Given the description of an element on the screen output the (x, y) to click on. 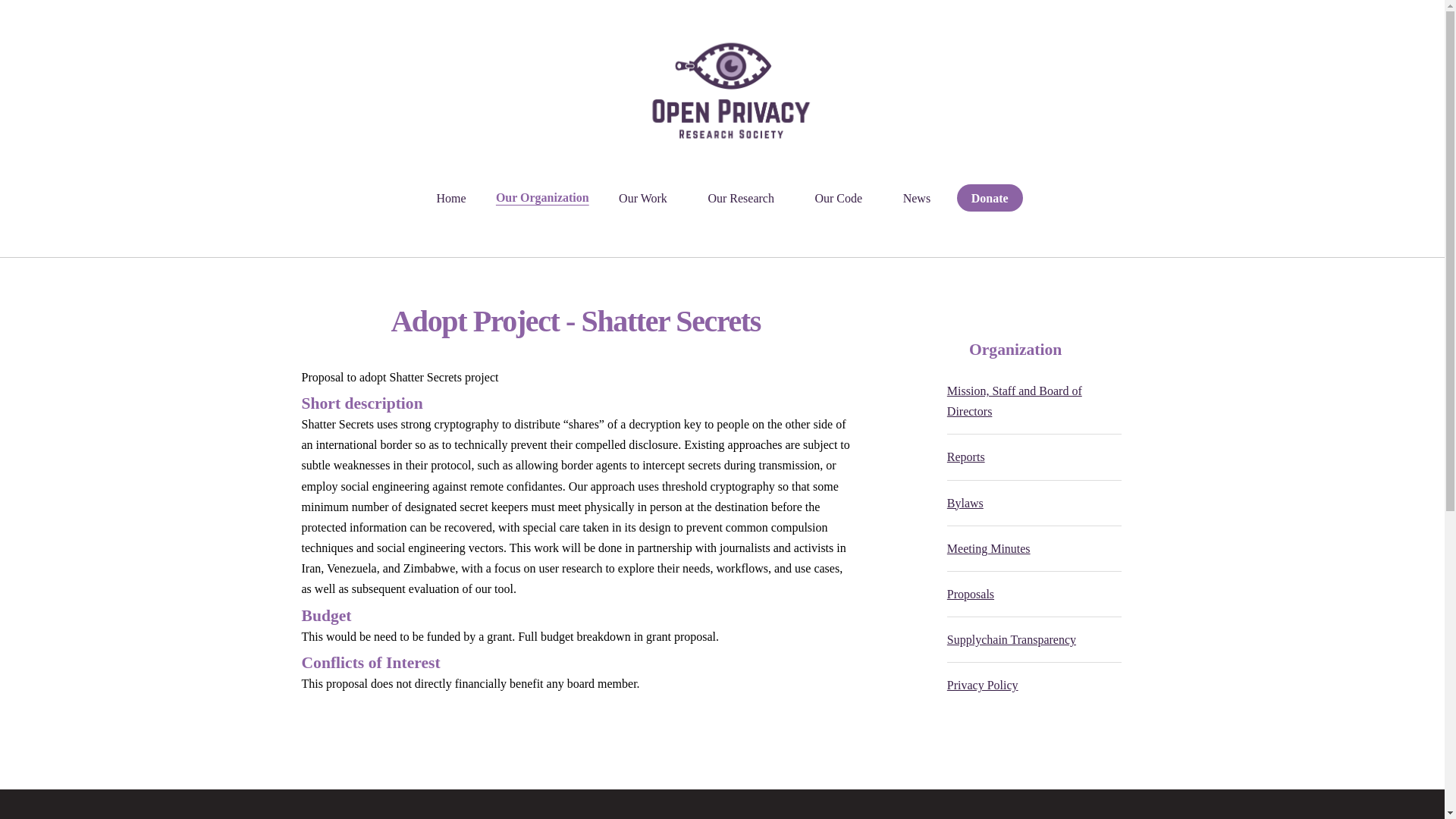
Our Research (741, 197)
Home (451, 197)
Our Organization (542, 197)
Our Work (642, 197)
Bylaws (965, 502)
Supplychain Transparency (1011, 639)
Proposals (970, 594)
Privacy Policy (982, 684)
Donate (989, 197)
Our Code (837, 197)
